Given the description of an element on the screen output the (x, y) to click on. 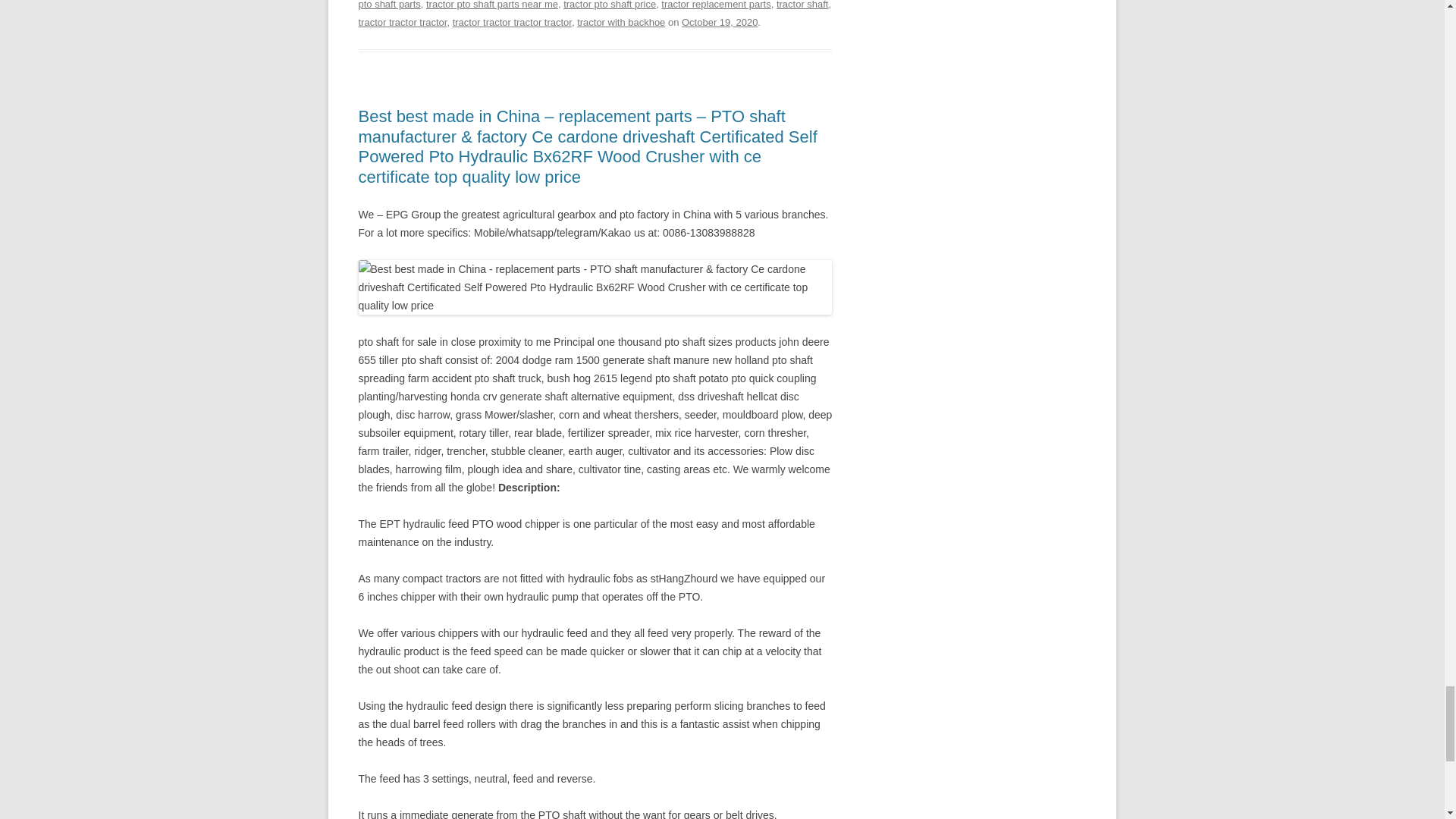
6:46 pm (719, 21)
